Given the description of an element on the screen output the (x, y) to click on. 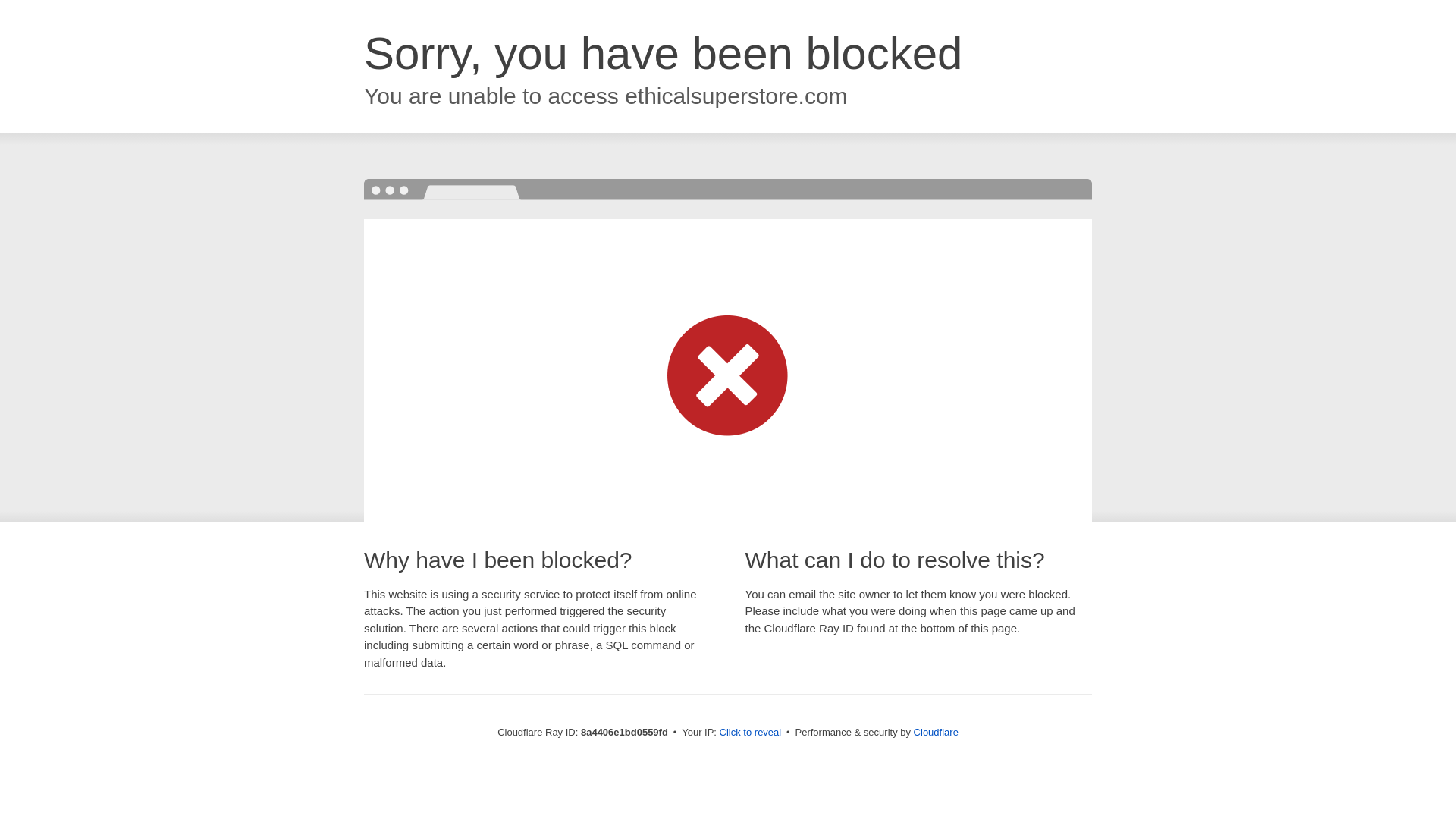
Click to reveal (750, 732)
Cloudflare (936, 731)
